Given the description of an element on the screen output the (x, y) to click on. 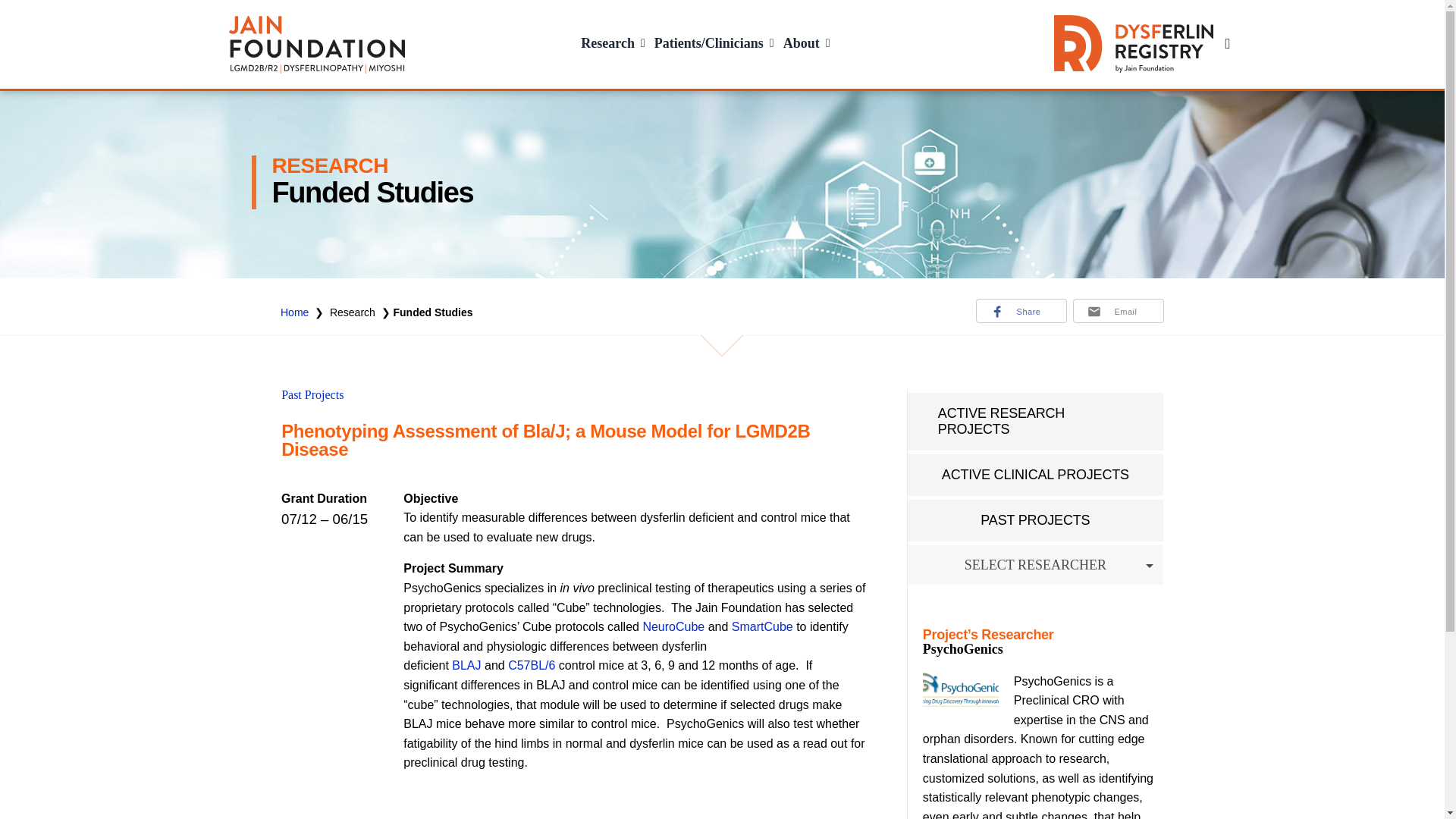
Past Projects (312, 394)
